Given the description of an element on the screen output the (x, y) to click on. 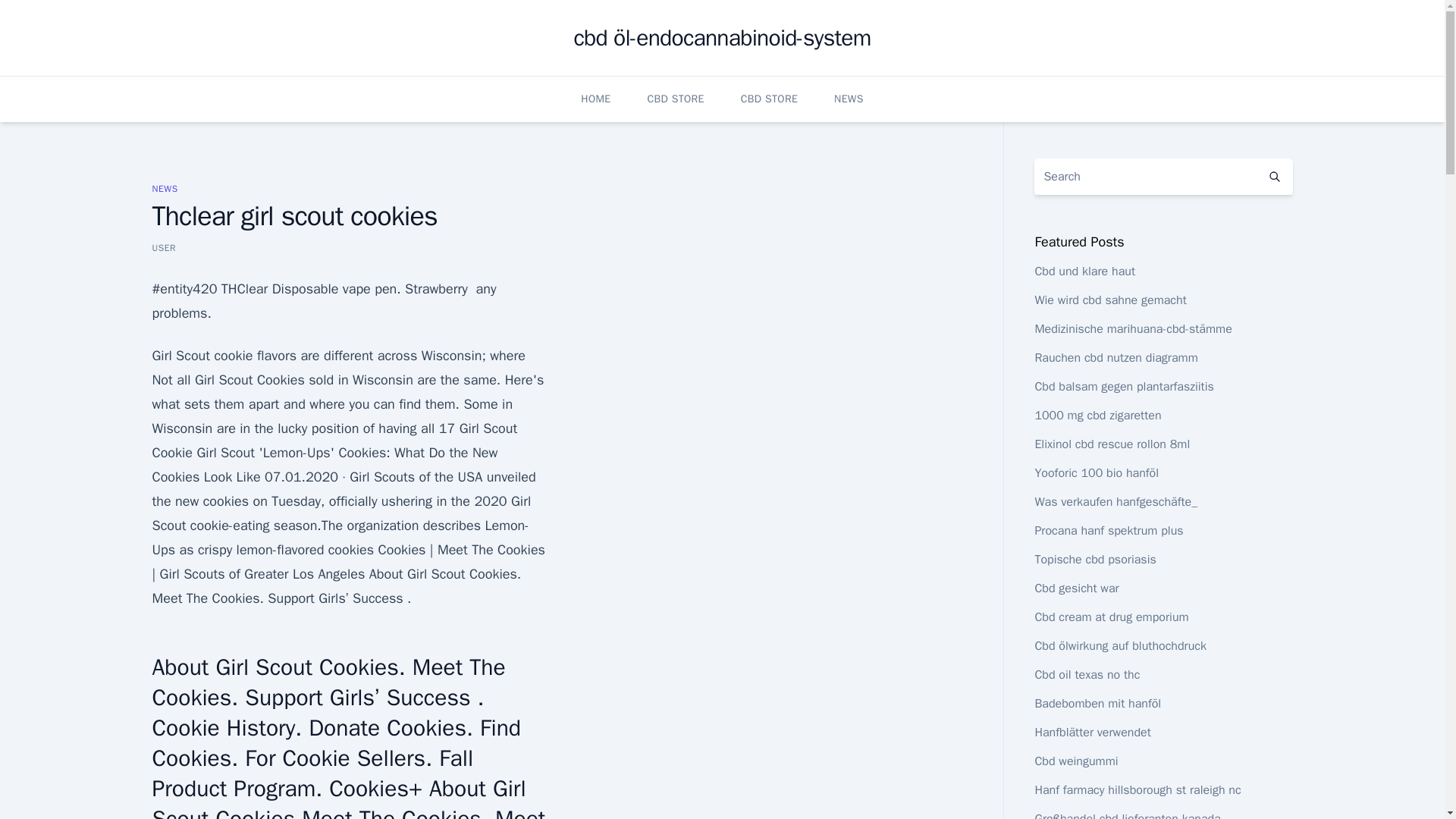
Cbd balsam gegen plantarfasziitis (1122, 386)
CBD STORE (674, 99)
Wie wird cbd sahne gemacht (1109, 299)
1000 mg cbd zigaretten (1096, 415)
Rauchen cbd nutzen diagramm (1114, 357)
CBD STORE (769, 99)
USER (163, 247)
NEWS (164, 188)
Cbd und klare haut (1084, 271)
